Given the description of an element on the screen output the (x, y) to click on. 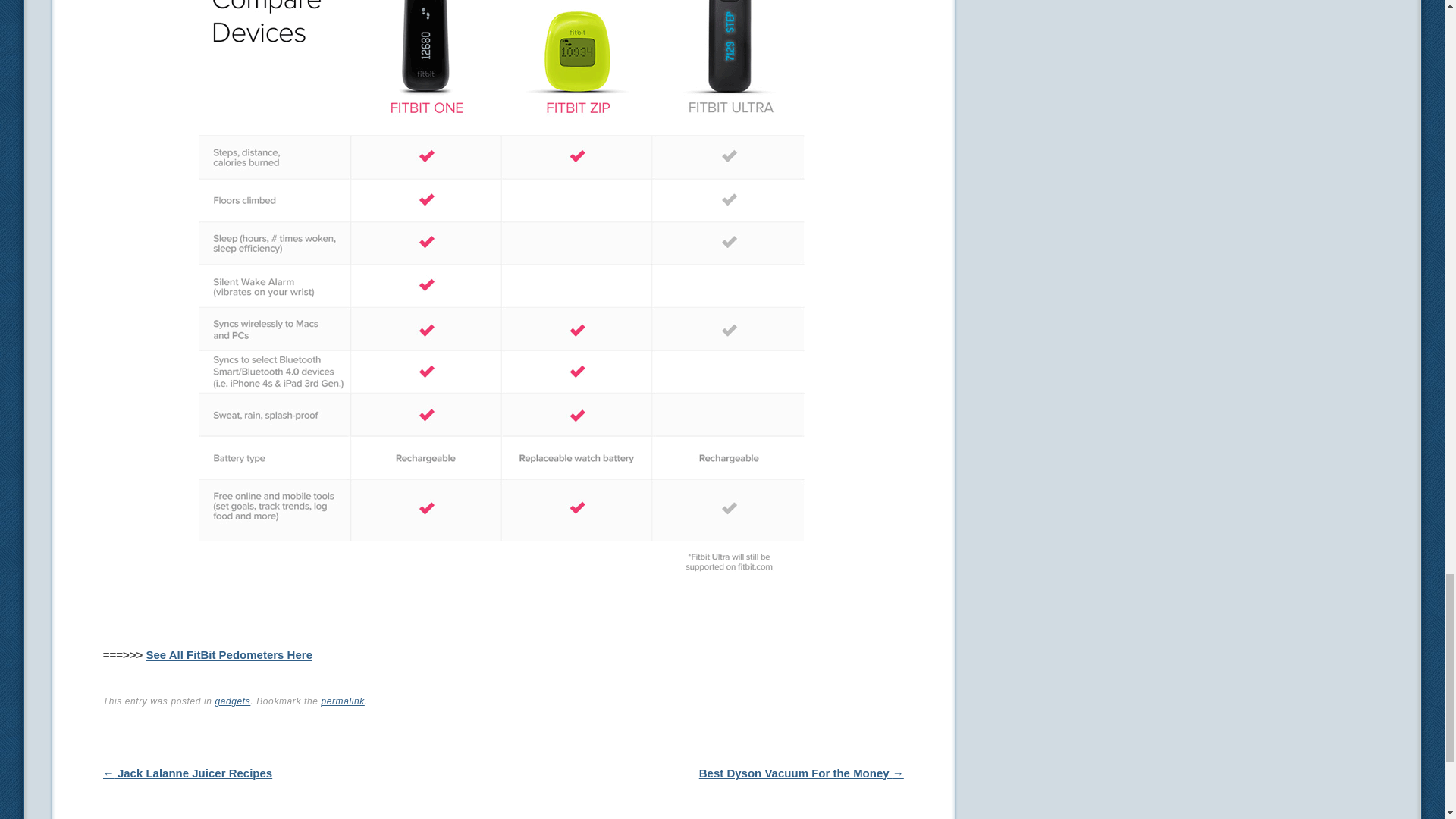
permalink (342, 701)
gadgets (232, 701)
See All FitBit Pedometers Here (229, 654)
Permalink to Fitbit Pedometers For Walking (342, 701)
